Given the description of an element on the screen output the (x, y) to click on. 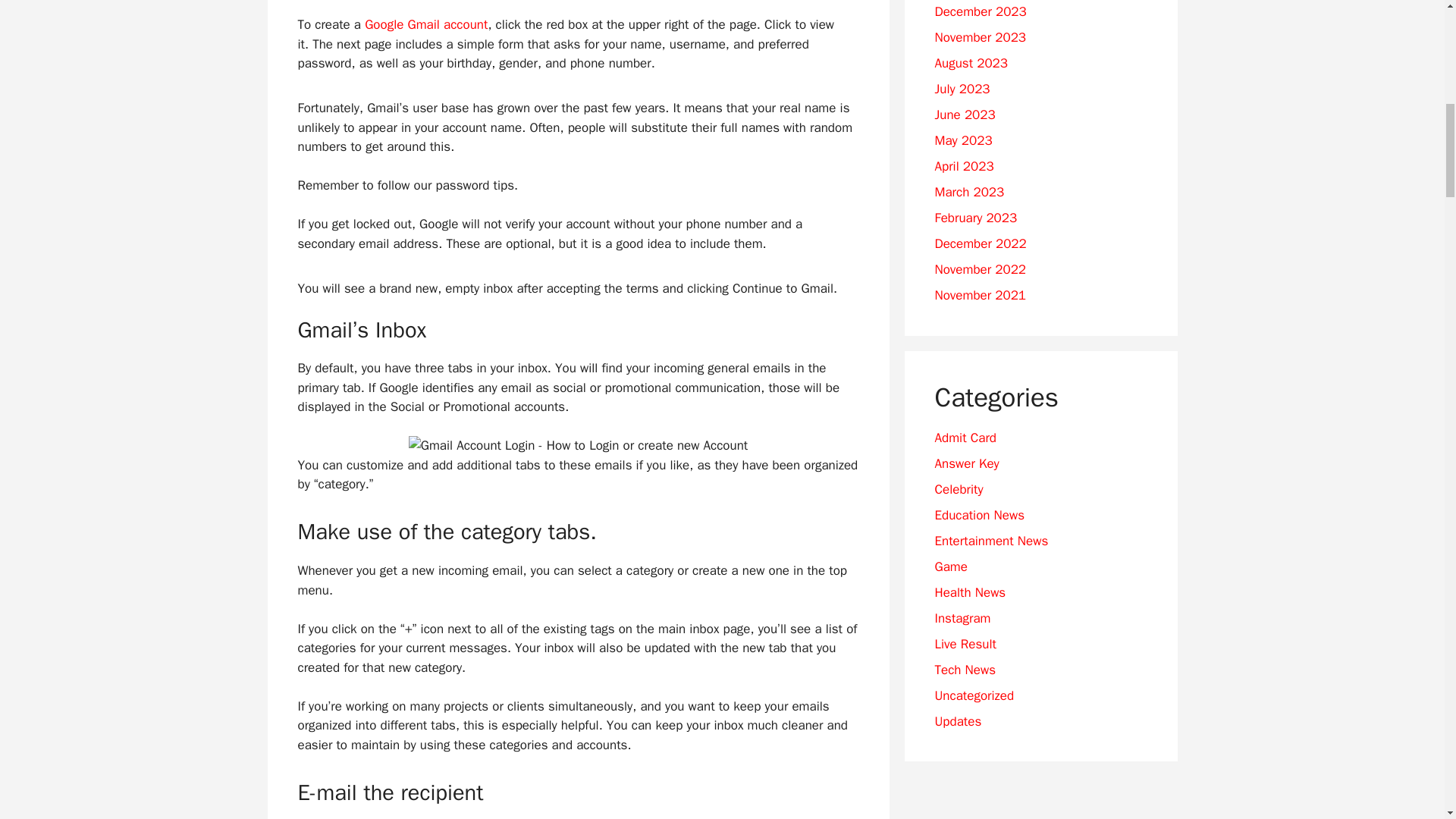
April 2023 (963, 166)
Google Gmail account (426, 24)
December 2023 (980, 11)
August 2023 (970, 63)
June 2023 (964, 114)
July 2023 (962, 89)
November 2023 (980, 37)
May 2023 (962, 140)
